Given the description of an element on the screen output the (x, y) to click on. 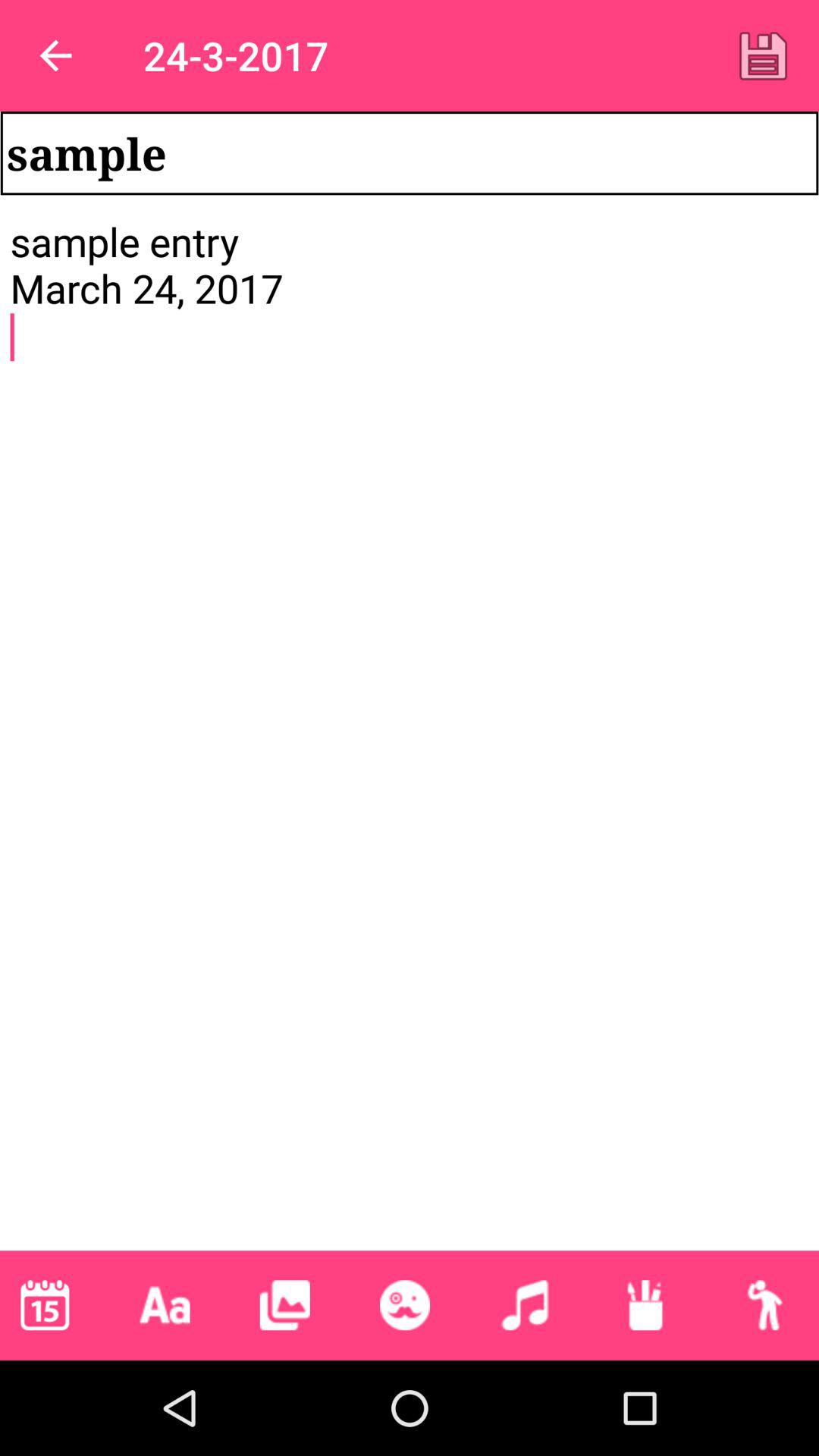
swipe to the sample entry march icon (409, 732)
